Given the description of an element on the screen output the (x, y) to click on. 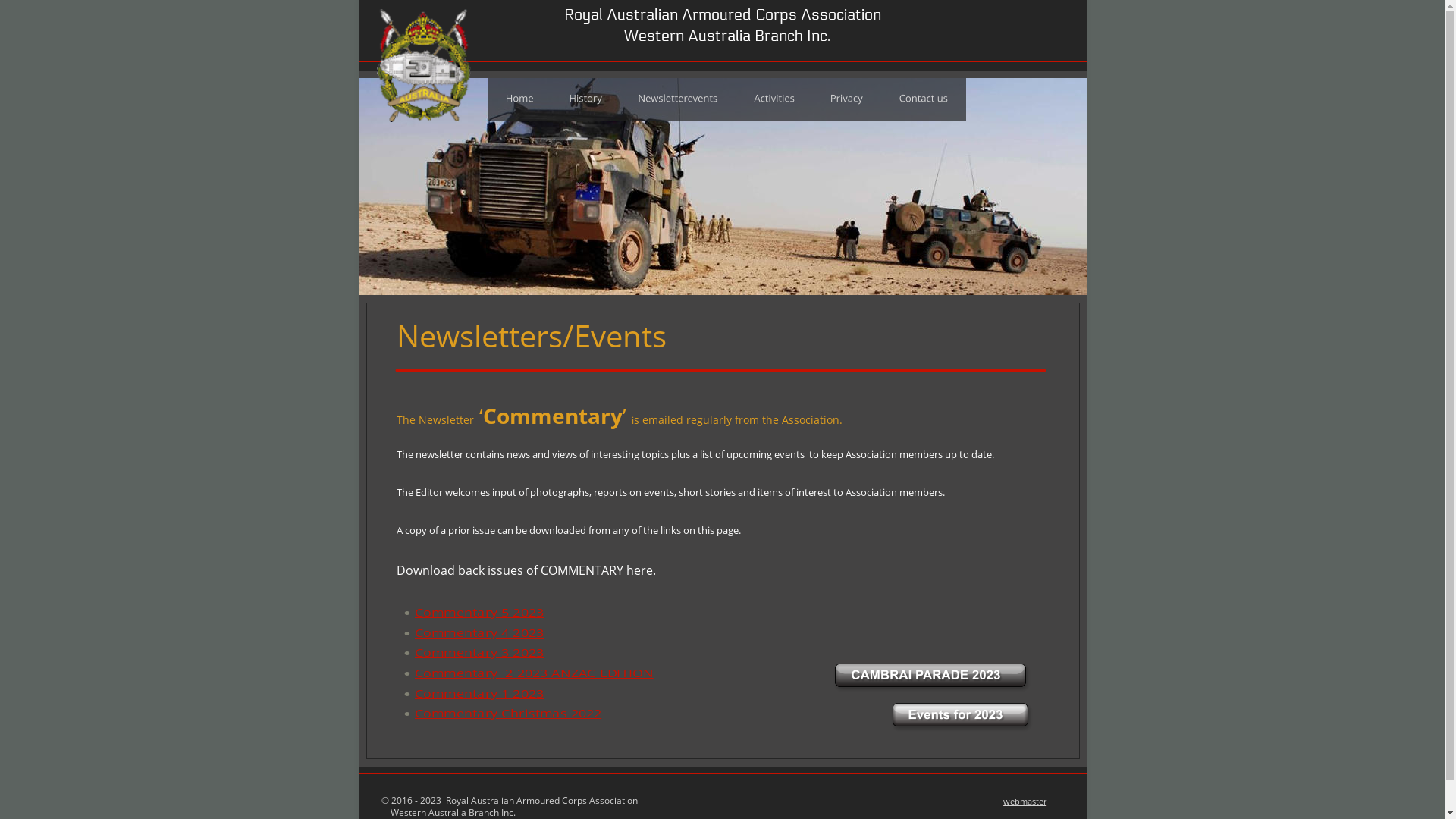
Commentary  2 2023 ANZAC EDITION Element type: text (508, 672)
webmaster Element type: text (1024, 800)
Commentary Christmas 2022 Element type: text (487, 713)
Commentary 4 2023 Element type: text (465, 632)
Commentary 1 2023 Element type: text (465, 693)
Commentary 3 2023 Element type: text (465, 652)
Commentary 5 2023 Element type: text (465, 612)
